Given the description of an element on the screen output the (x, y) to click on. 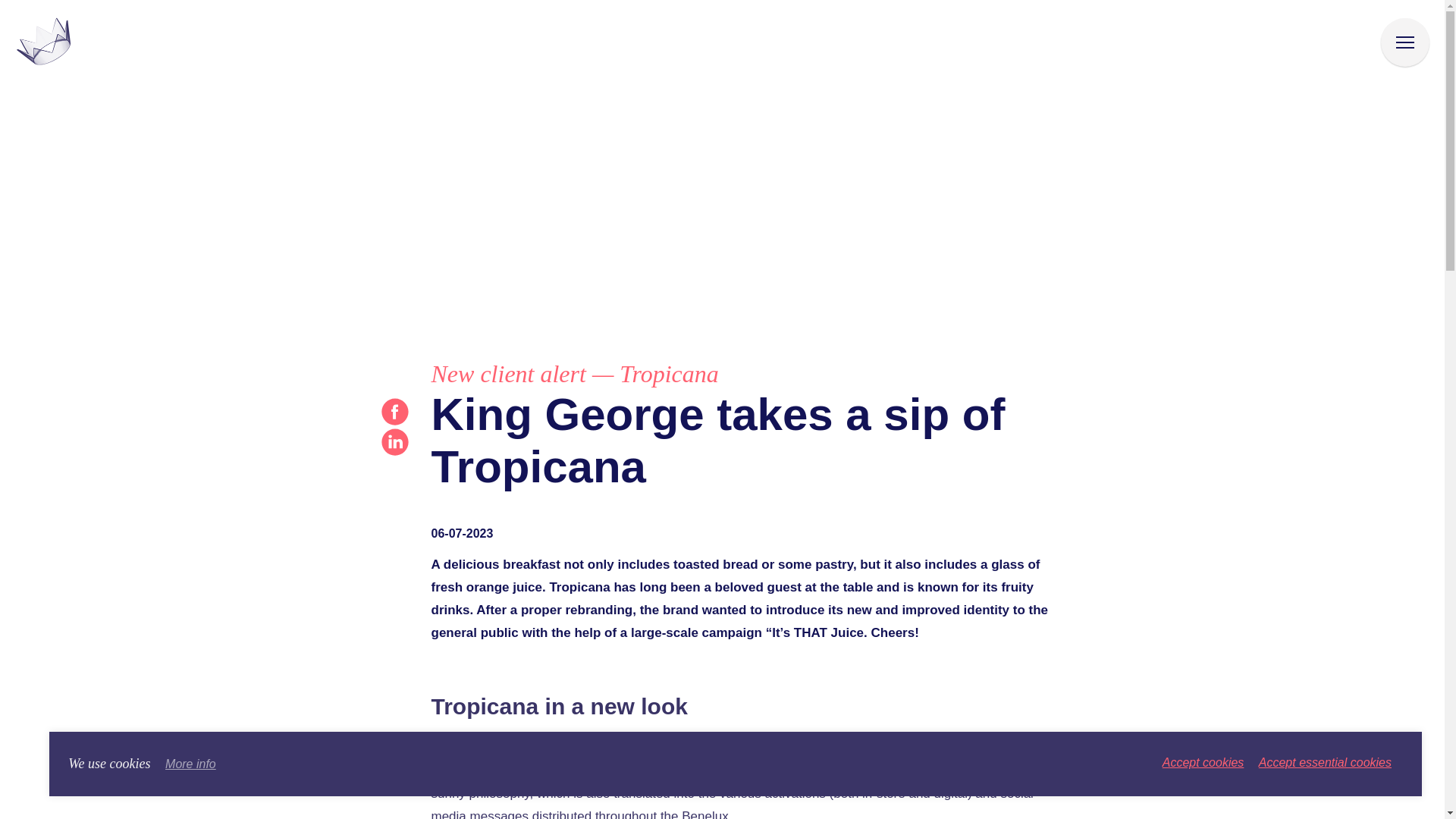
More info (190, 763)
